Given the description of an element on the screen output the (x, y) to click on. 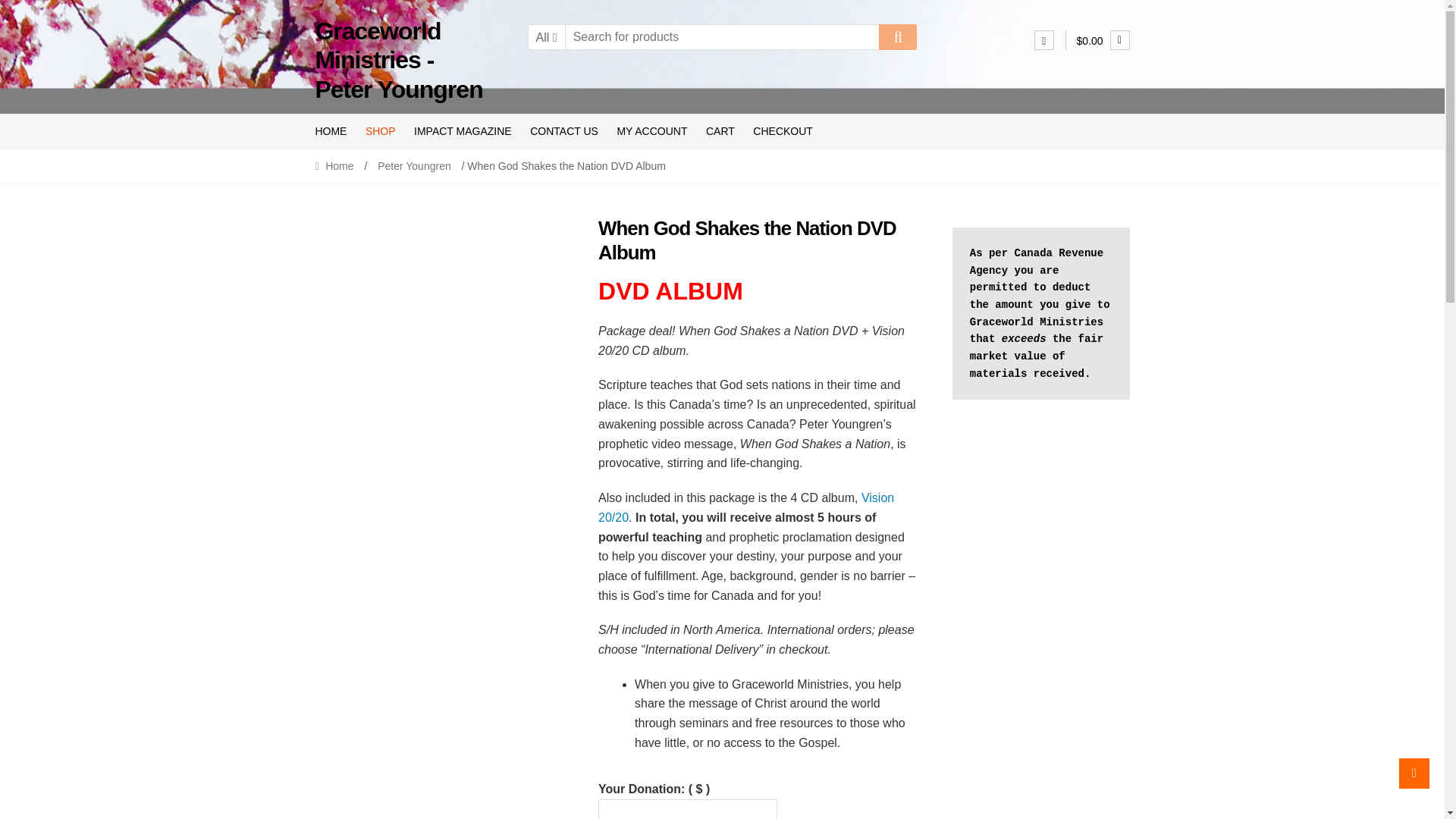
HOME (334, 131)
Home (337, 165)
MY ACCOUNT (652, 131)
CART (720, 131)
CONTACT US (564, 131)
CHECKOUT (783, 131)
SHOP (380, 131)
View your shopping cart (1103, 41)
Graceworld Ministries - Peter Youngren (397, 60)
IMPACT MAGAZINE (462, 131)
Peter Youngren (413, 165)
